Given the description of an element on the screen output the (x, y) to click on. 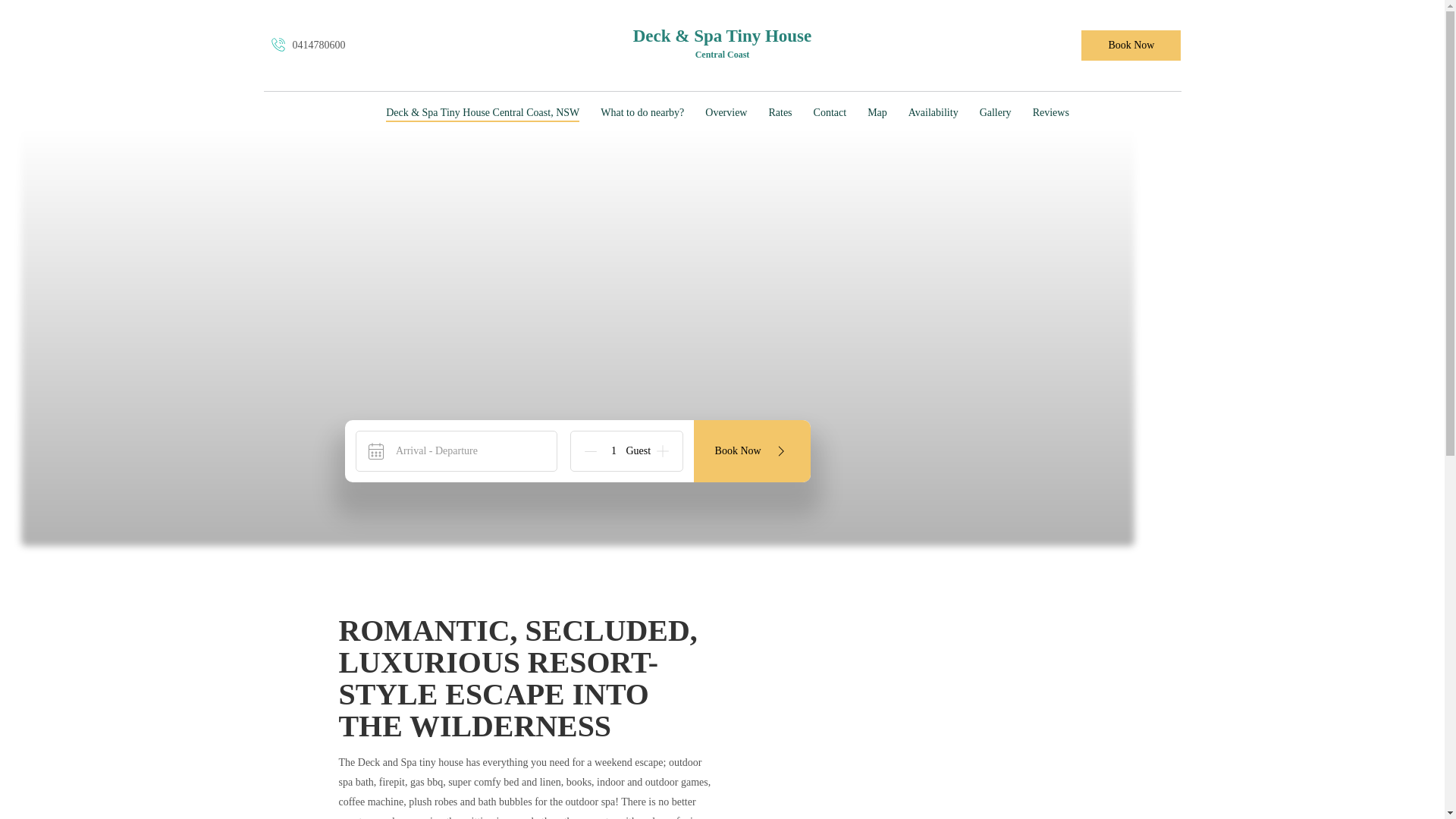
Arrival - Departure (456, 450)
Central Coast (722, 54)
1 (613, 450)
Contact (830, 114)
Reviews (1050, 114)
Rates (780, 114)
Book Now (752, 451)
Gallery (995, 114)
Overview (725, 114)
Availability (933, 114)
Map (876, 114)
What to do nearby? (641, 114)
Book Now (1130, 45)
0414780600 (306, 45)
